Given the description of an element on the screen output the (x, y) to click on. 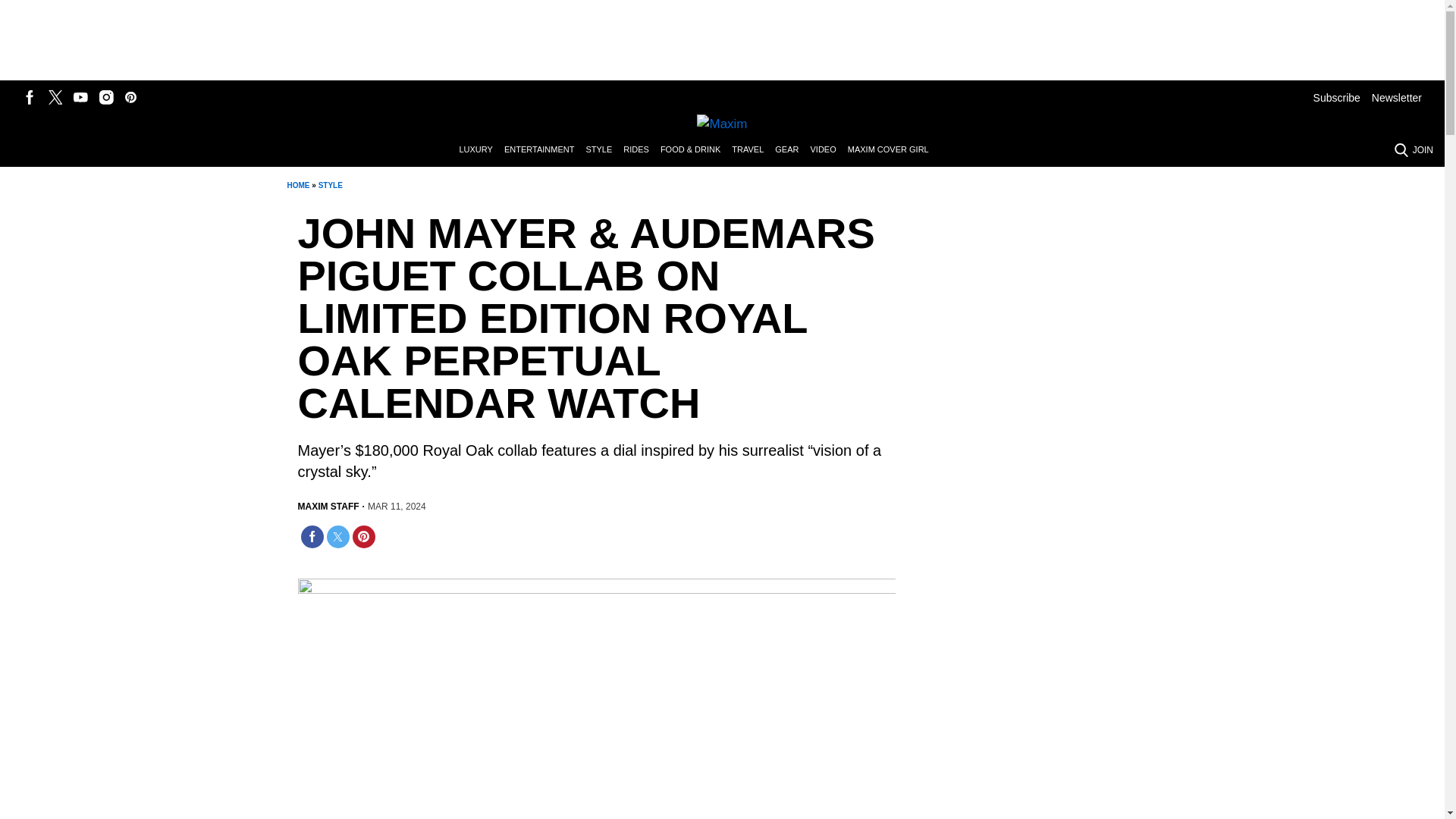
STYLE (604, 150)
Newsletter (1396, 97)
Subscribe (1336, 97)
JOIN (1422, 150)
VIDEO (828, 150)
STYLE (330, 184)
Follow us on Youtube (80, 97)
RIDES (642, 150)
HOME (297, 184)
Share on Twitter (337, 535)
Share on Facebook (311, 535)
GEAR (791, 150)
Posts by Maxim Staff (327, 506)
Follow us on Twitter (55, 97)
ENTERTAINMENT (544, 150)
